Given the description of an element on the screen output the (x, y) to click on. 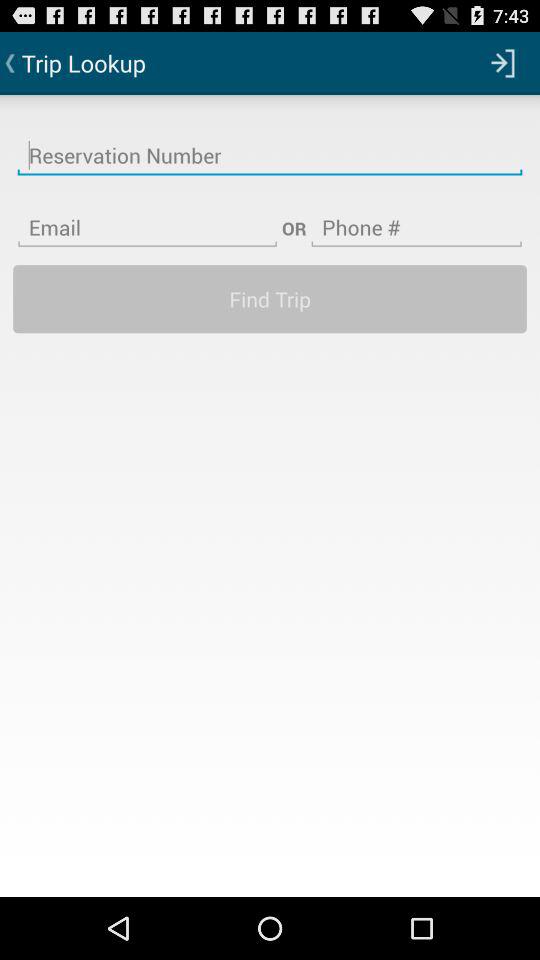
add phone number (416, 215)
